Given the description of an element on the screen output the (x, y) to click on. 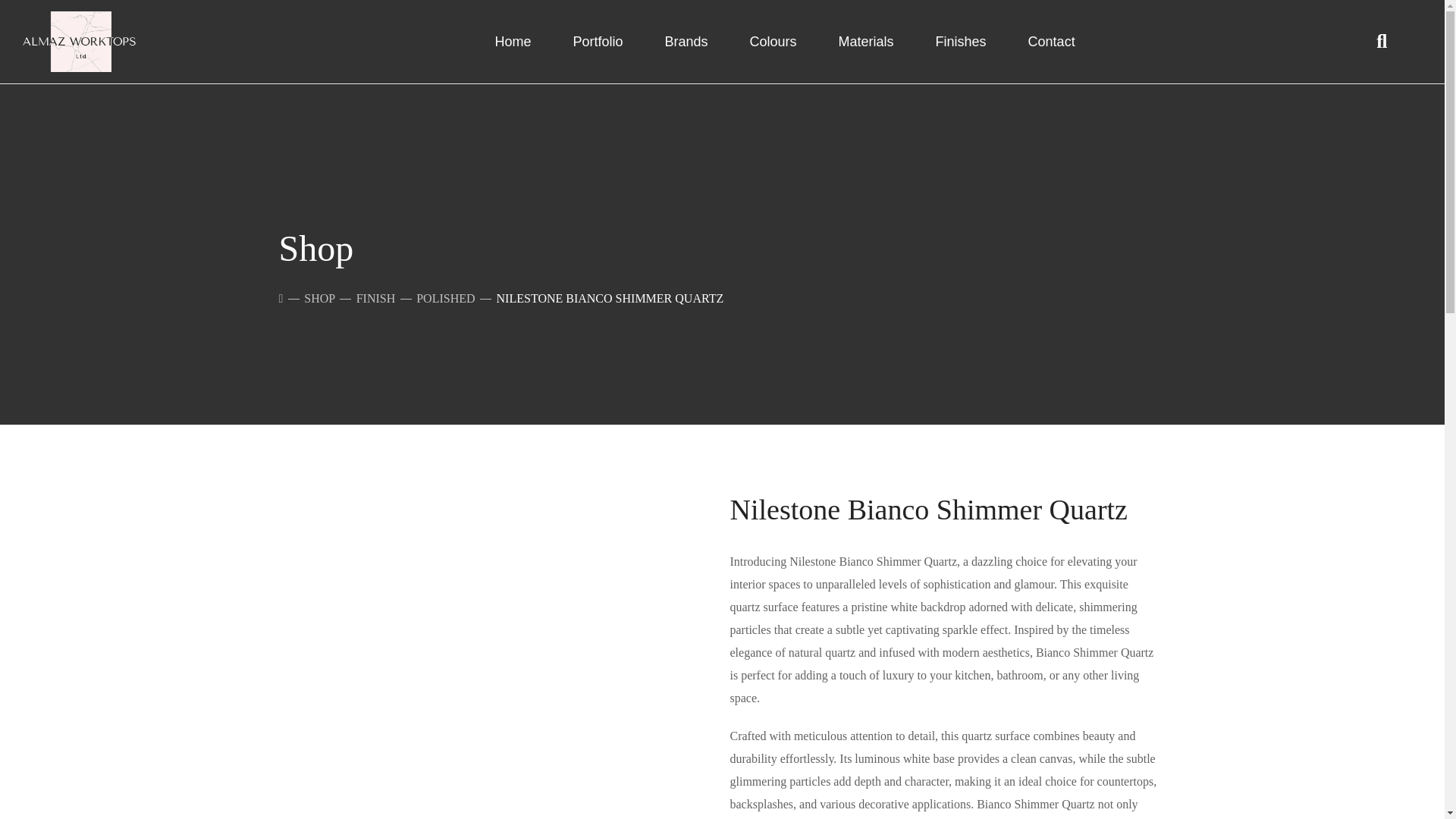
Brands (685, 41)
Home (512, 41)
Colours (771, 41)
Portfolio (597, 41)
Materials (866, 41)
